Given the description of an element on the screen output the (x, y) to click on. 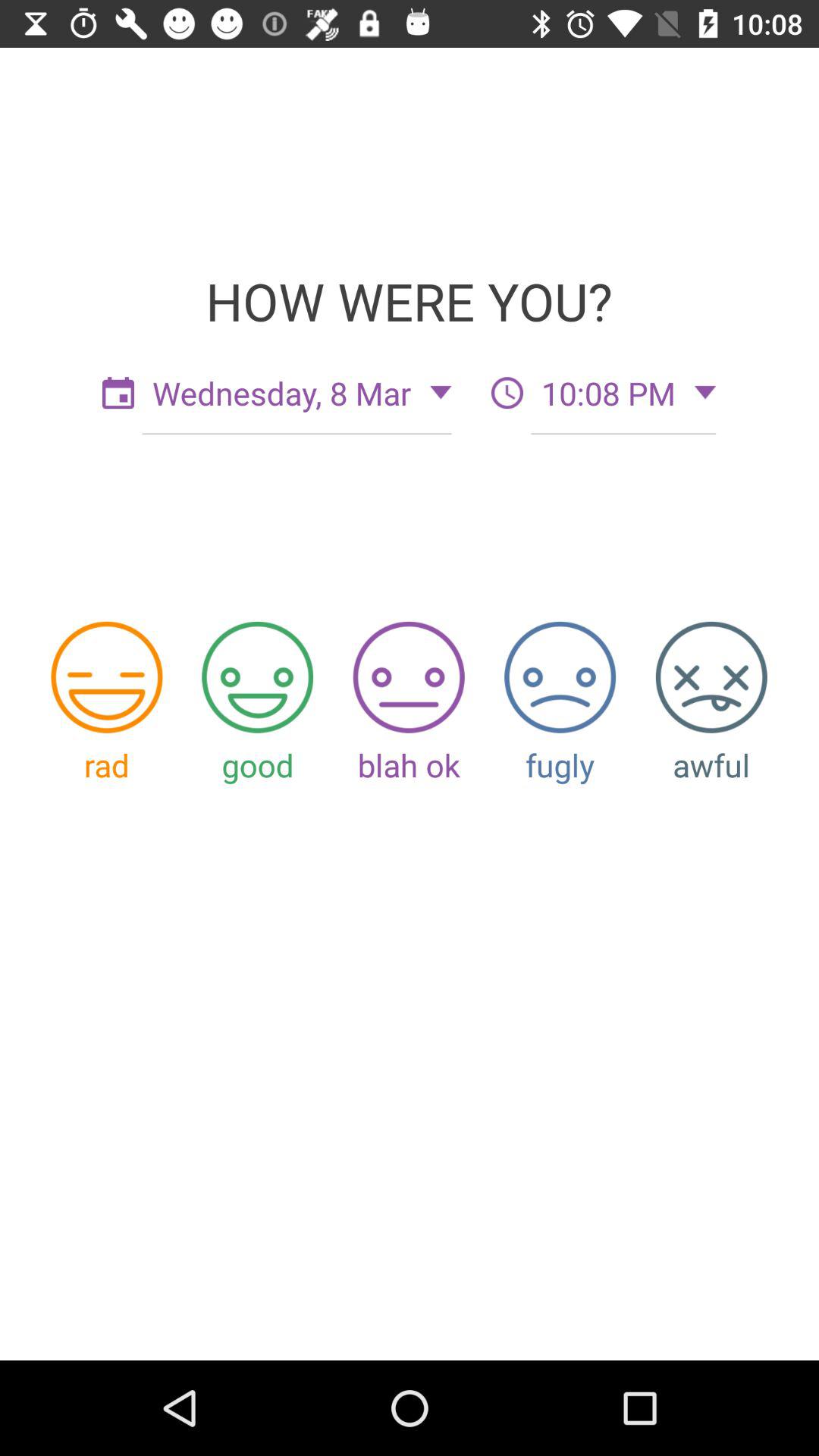
change the time (507, 392)
